Given the description of an element on the screen output the (x, y) to click on. 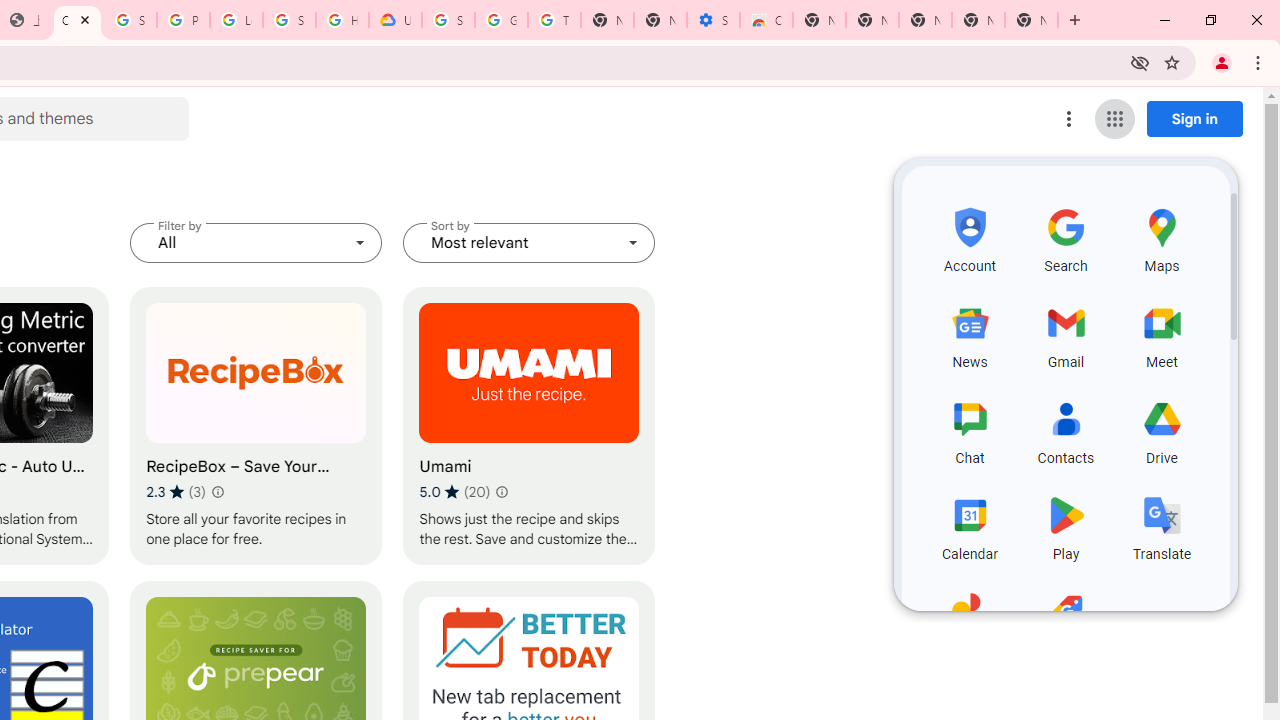
Filter by All (256, 242)
Turn cookies on or off - Computer - Google Account Help (554, 20)
Sort by Most relevant (529, 242)
Chrome Web Store - Accessibility extensions (766, 20)
Google Account Help (501, 20)
Average rating 2.3 out of 5 stars. 3 ratings. (176, 491)
